Given the description of an element on the screen output the (x, y) to click on. 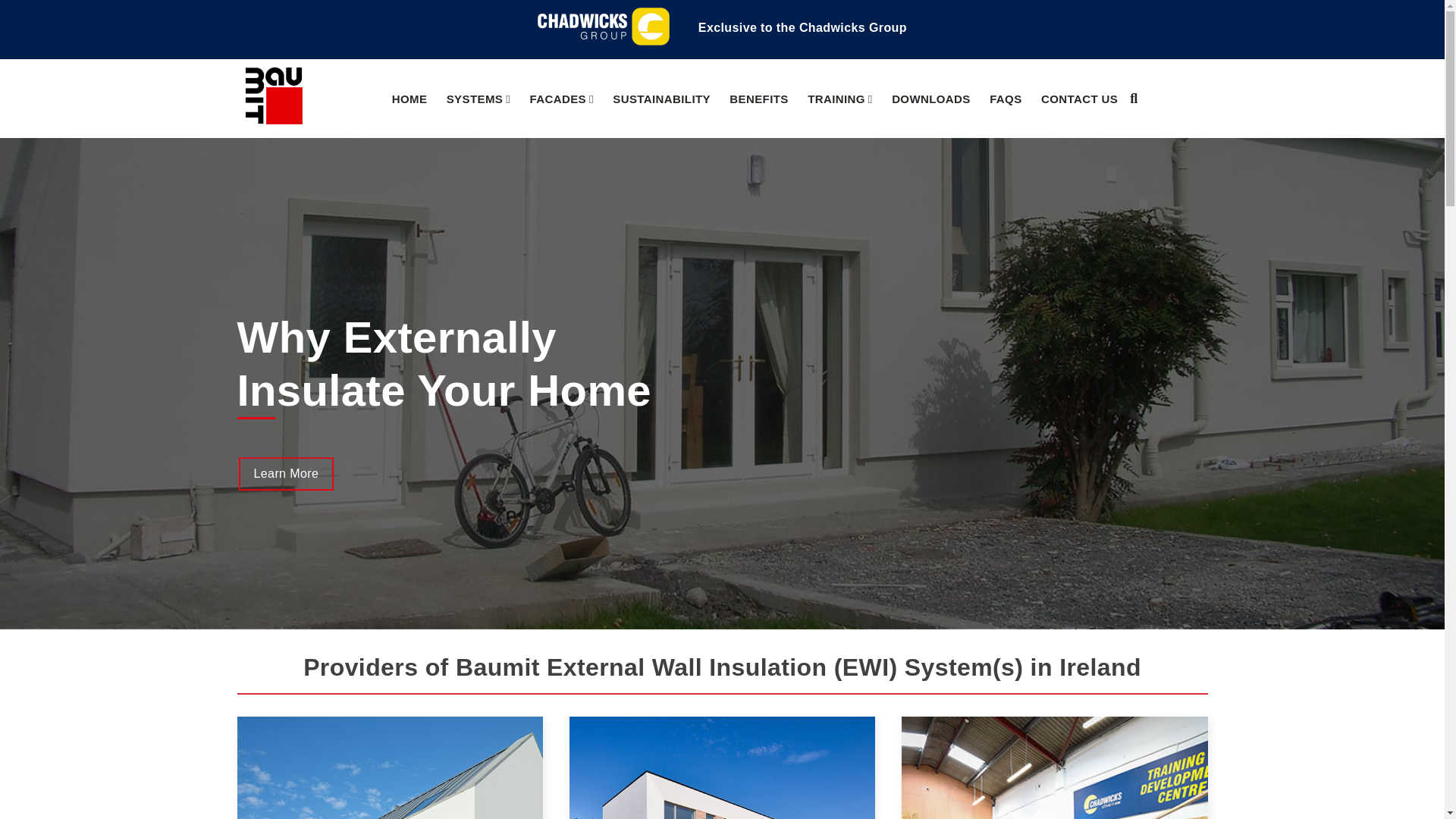
Baumit (272, 119)
FACADES (560, 98)
SYSTEMS (478, 98)
HOME (409, 98)
